Given the description of an element on the screen output the (x, y) to click on. 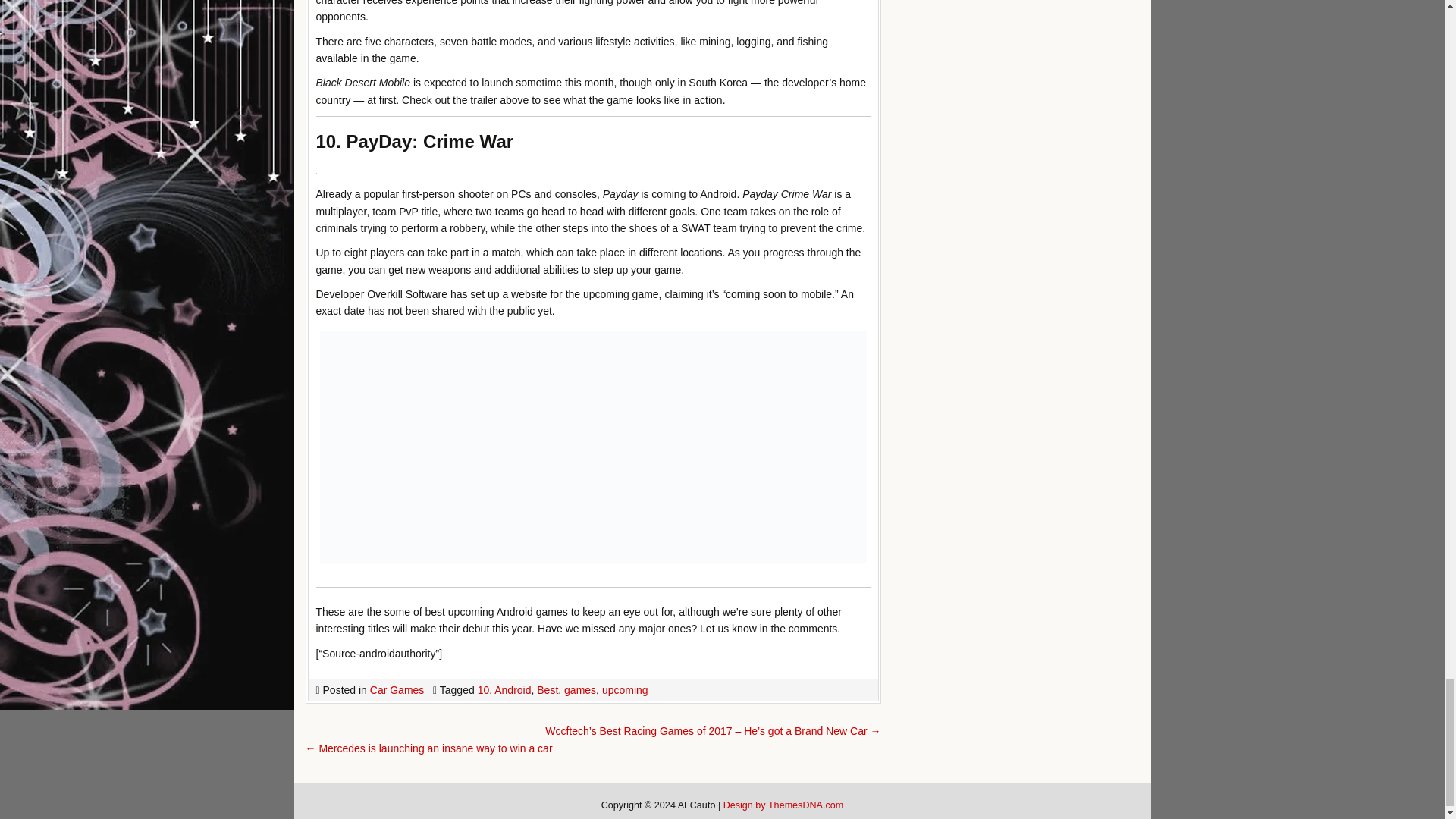
Best (547, 689)
10 (483, 689)
Car Games (397, 689)
upcoming (624, 689)
Android (513, 689)
games (579, 689)
